Given the description of an element on the screen output the (x, y) to click on. 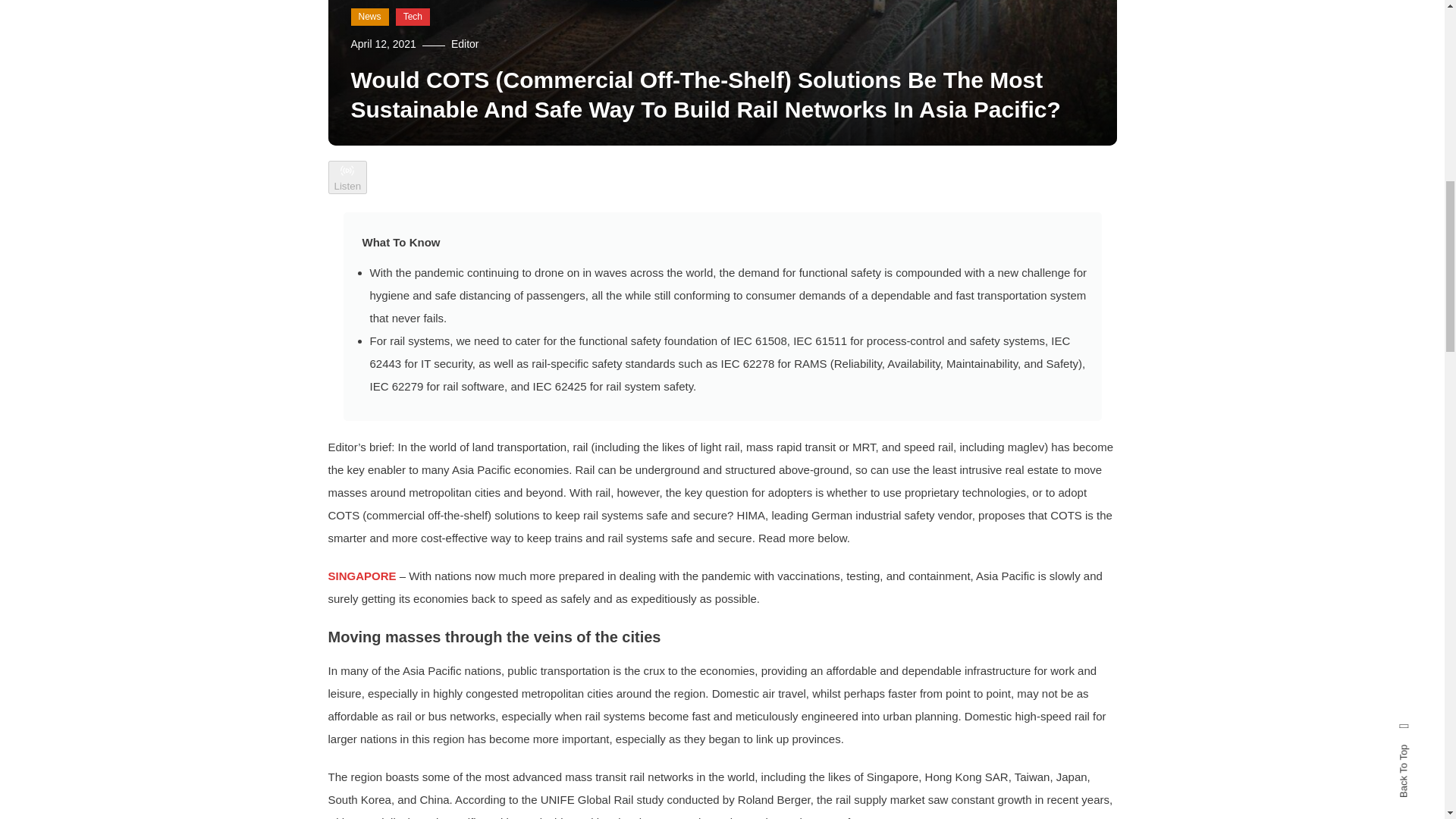
Editor (465, 43)
Tech (412, 17)
News (369, 17)
SINGAPORE (361, 575)
April 12, 2021 (382, 43)
